Given the description of an element on the screen output the (x, y) to click on. 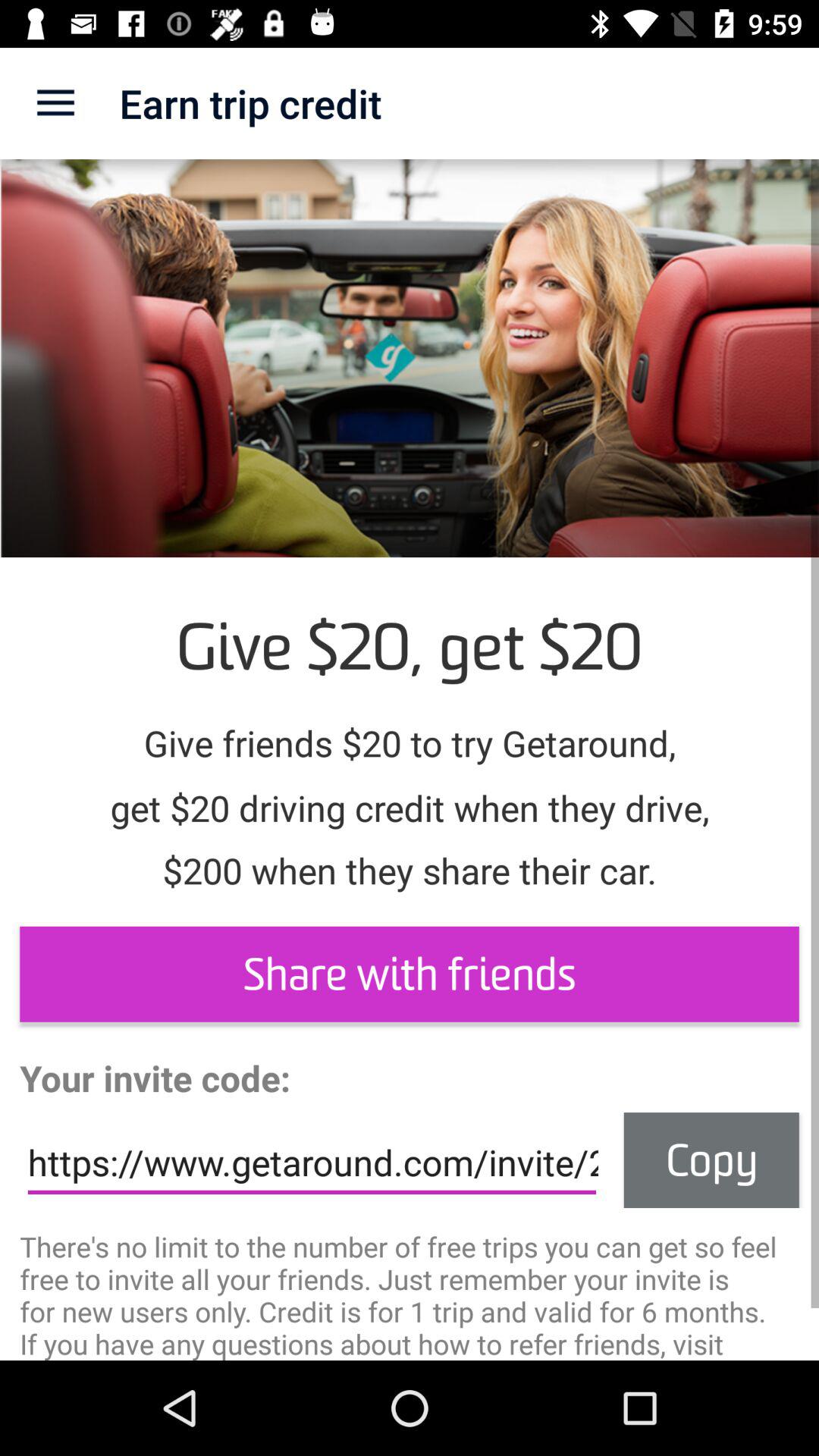
click there s no icon (409, 1293)
